Given the description of an element on the screen output the (x, y) to click on. 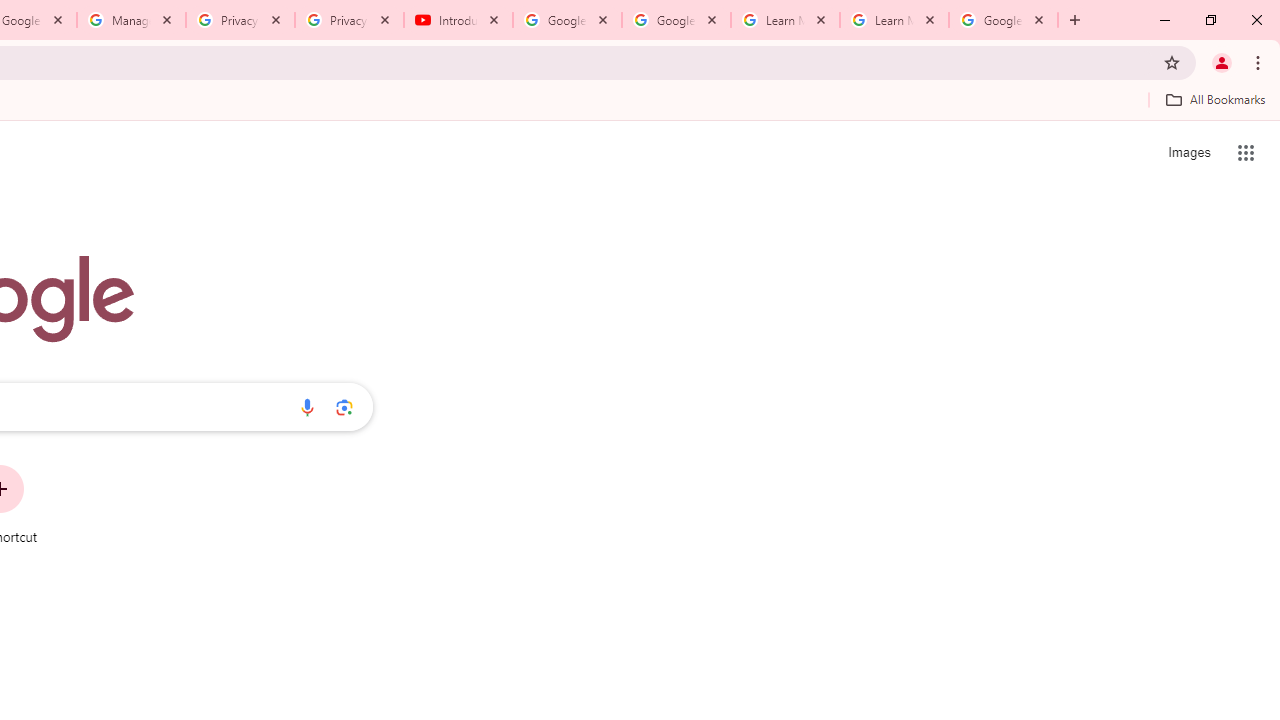
Google apps (1245, 152)
Google Account Help (676, 20)
Google Account Help (567, 20)
Introduction | Google Privacy Policy - YouTube (458, 20)
Search for Images  (1188, 152)
Search by voice (307, 407)
Search by image (344, 407)
